Given the description of an element on the screen output the (x, y) to click on. 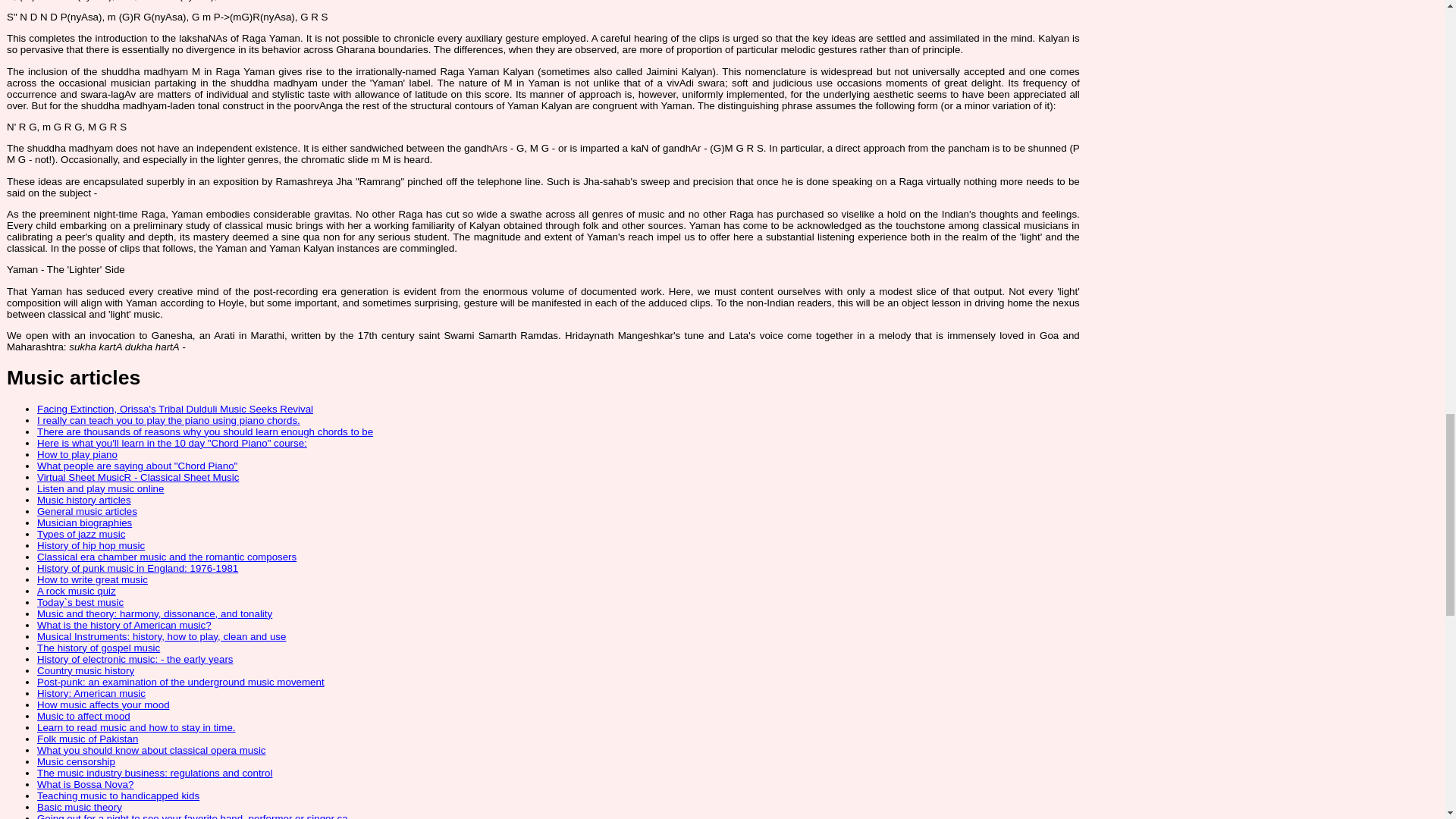
History: American music (91, 693)
Types of jazz music (81, 533)
I really can teach you to play the piano using piano chords. (168, 419)
Virtual Sheet MusicR - Classical Sheet Music (137, 477)
The history of gospel music (98, 647)
How music affects your mood (103, 704)
What is Bossa Nova? (85, 784)
Post-punk: an examination of the underground music movement (180, 681)
Music history articles (84, 500)
Folk music of Pakistan (87, 738)
Country music history (85, 670)
What you should know about classical opera music (151, 749)
Musical Instruments: history, how to play, clean and use (161, 636)
What people are saying about "Chord Piano" (137, 465)
